Given the description of an element on the screen output the (x, y) to click on. 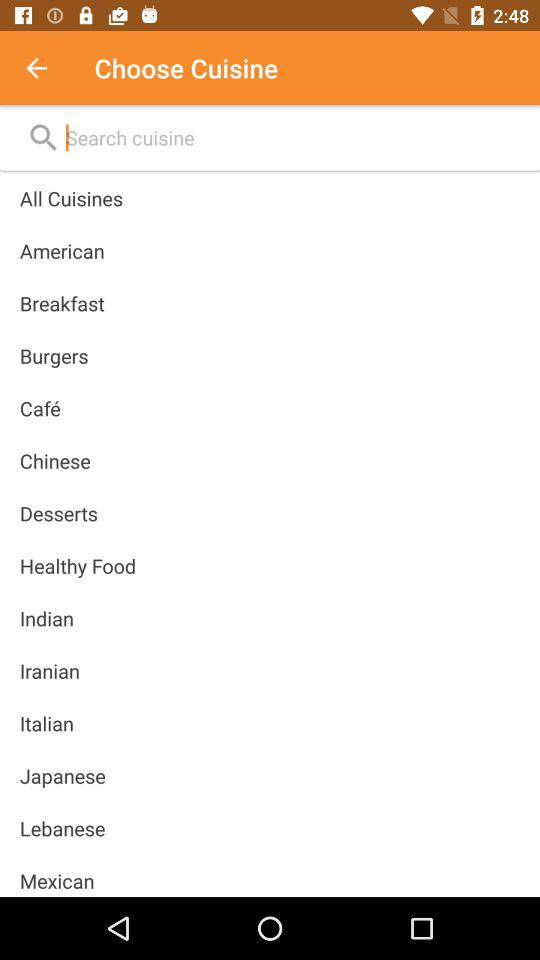
scroll to japanese icon (62, 775)
